Given the description of an element on the screen output the (x, y) to click on. 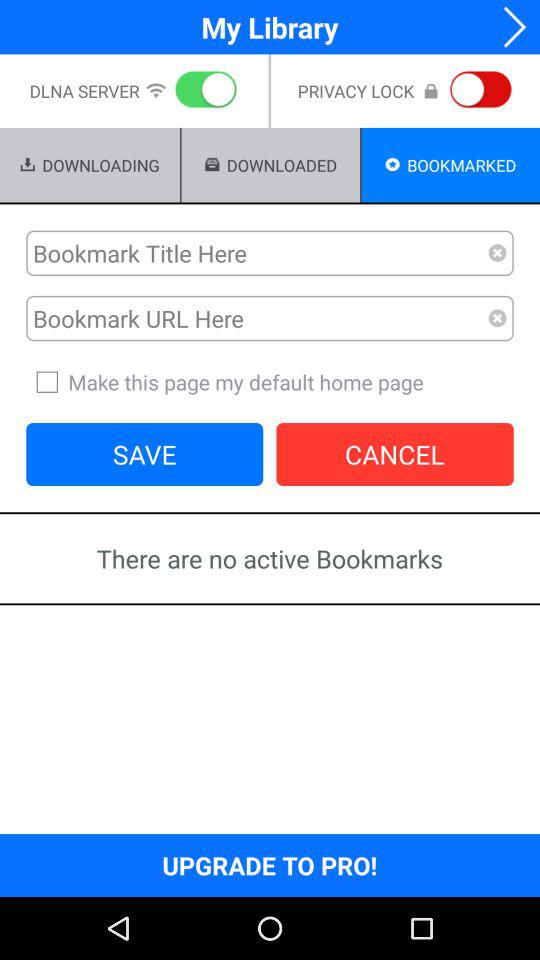
privacy button keep privacy option always on (477, 91)
